Given the description of an element on the screen output the (x, y) to click on. 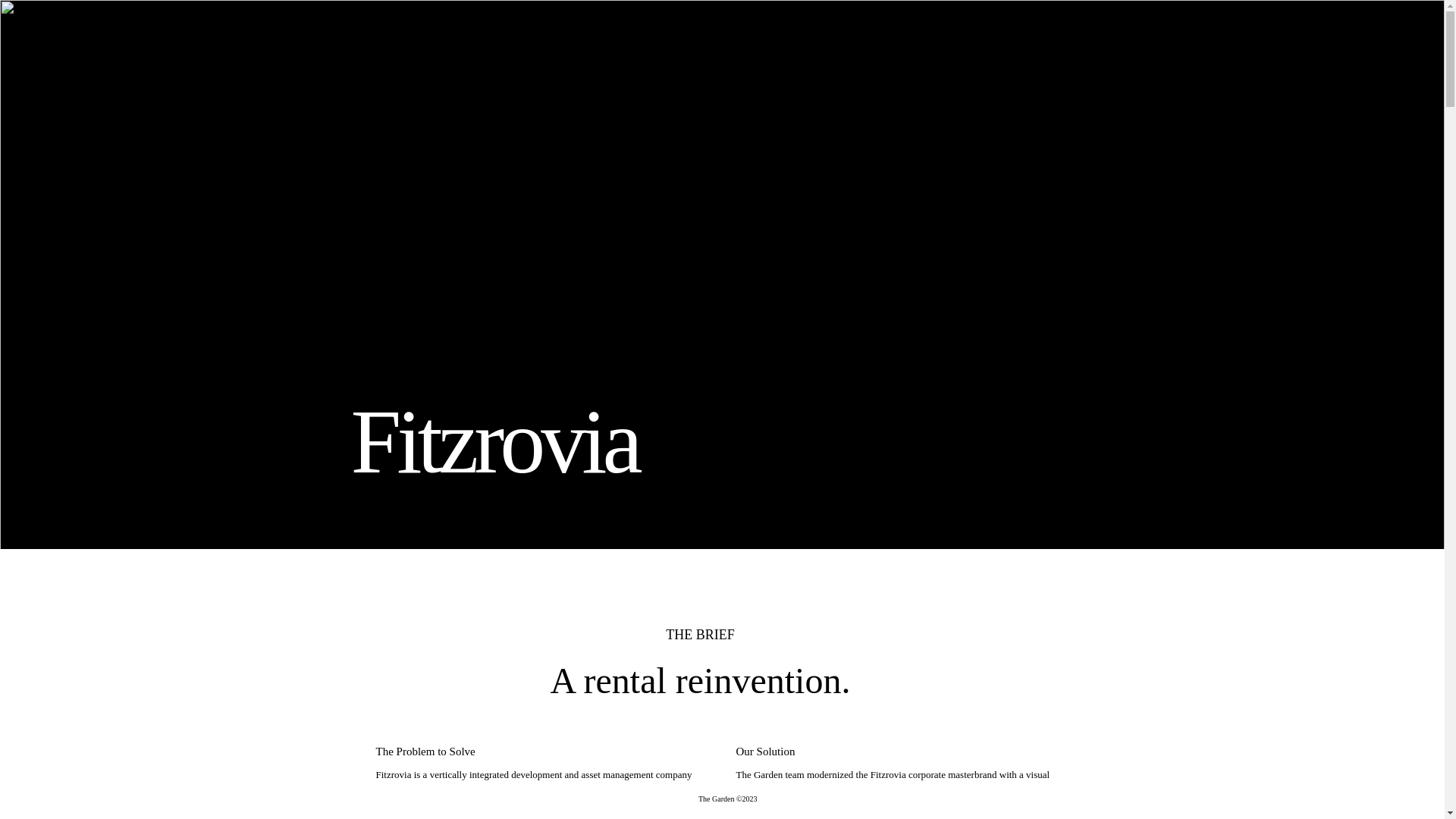
Production (1329, 102)
ThinkShop (1329, 126)
Contact Us (123, 36)
Advertising (1329, 53)
Brand Transformation (1329, 78)
Design (1329, 65)
Brand Experience (1329, 90)
Start-Ups (1329, 114)
